Given the description of an element on the screen output the (x, y) to click on. 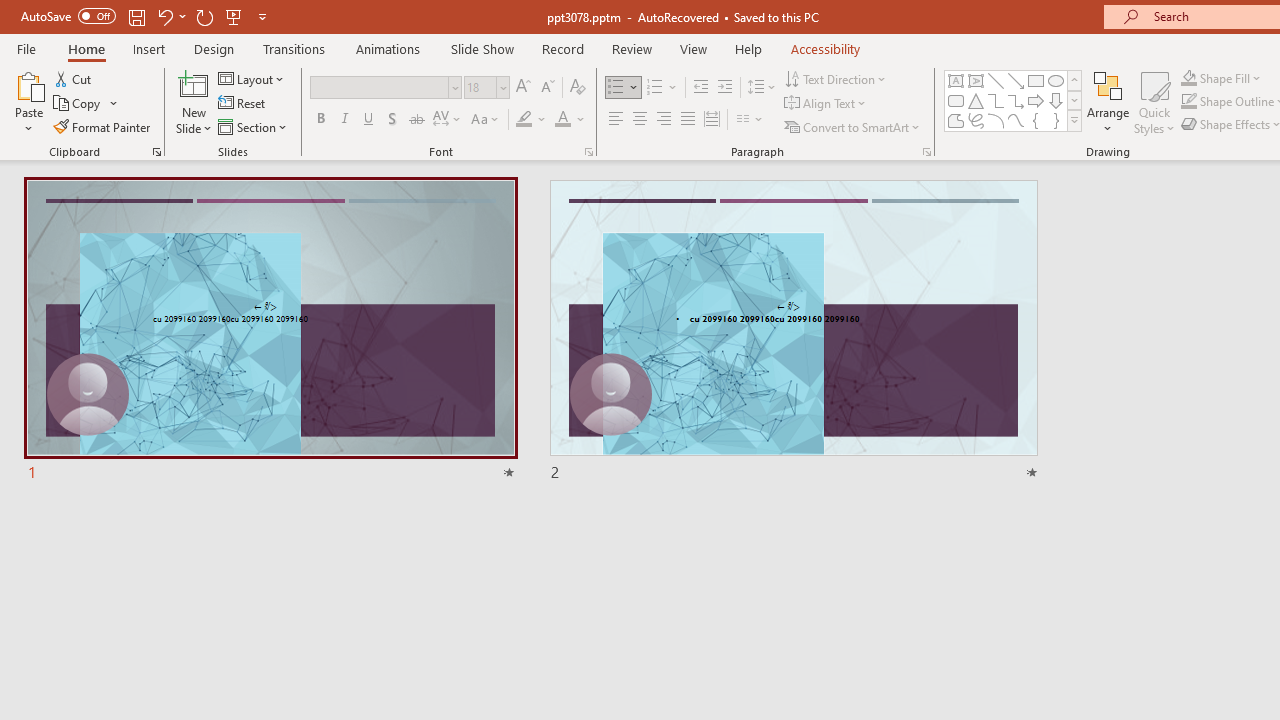
Align Left (616, 119)
Shape Fill Dark Green, Accent 2 (1188, 78)
Insert (149, 48)
Connector: Elbow (995, 100)
Line Arrow (1016, 80)
Font Color (569, 119)
Isosceles Triangle (975, 100)
Office Clipboard... (156, 151)
Copy (78, 103)
Review (631, 48)
Open (502, 87)
Customize Quick Access Toolbar (262, 15)
Columns (750, 119)
Numbering (661, 87)
